Given the description of an element on the screen output the (x, y) to click on. 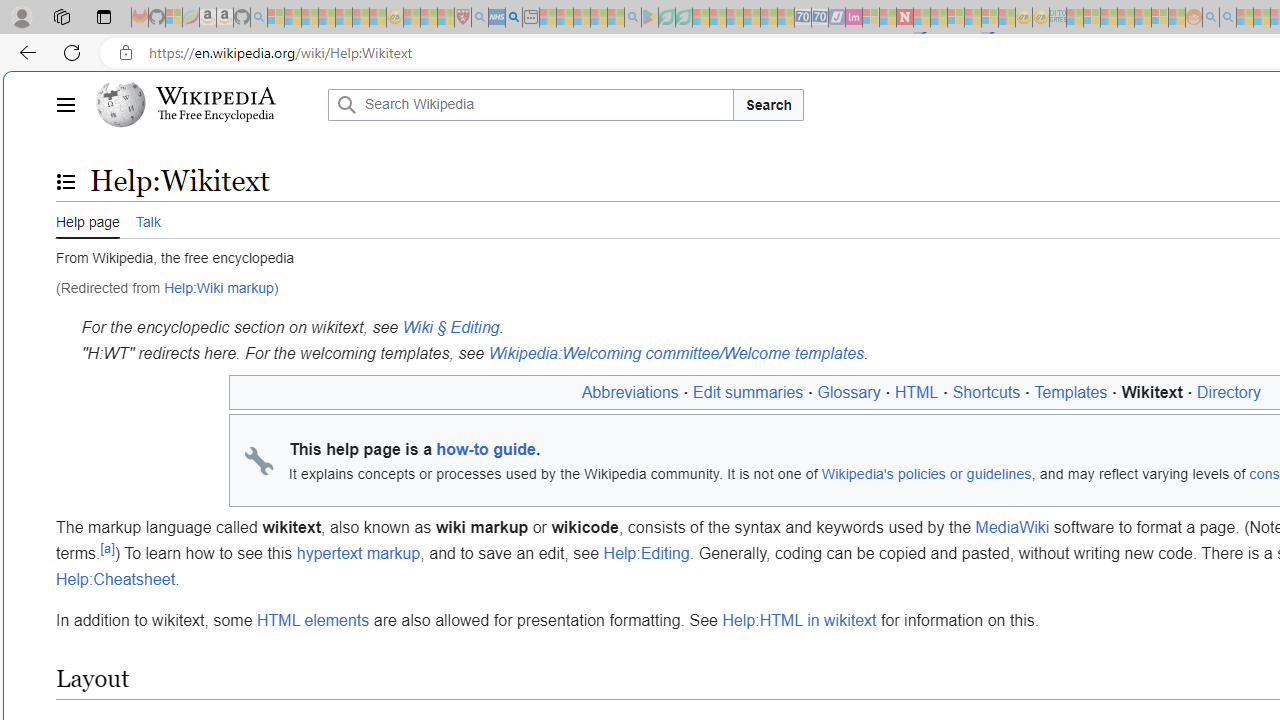
Templates (1071, 392)
Glossary (848, 392)
MediaWiki (1012, 528)
Wikipedia:Welcoming committee/Welcome templates (676, 353)
